Given the description of an element on the screen output the (x, y) to click on. 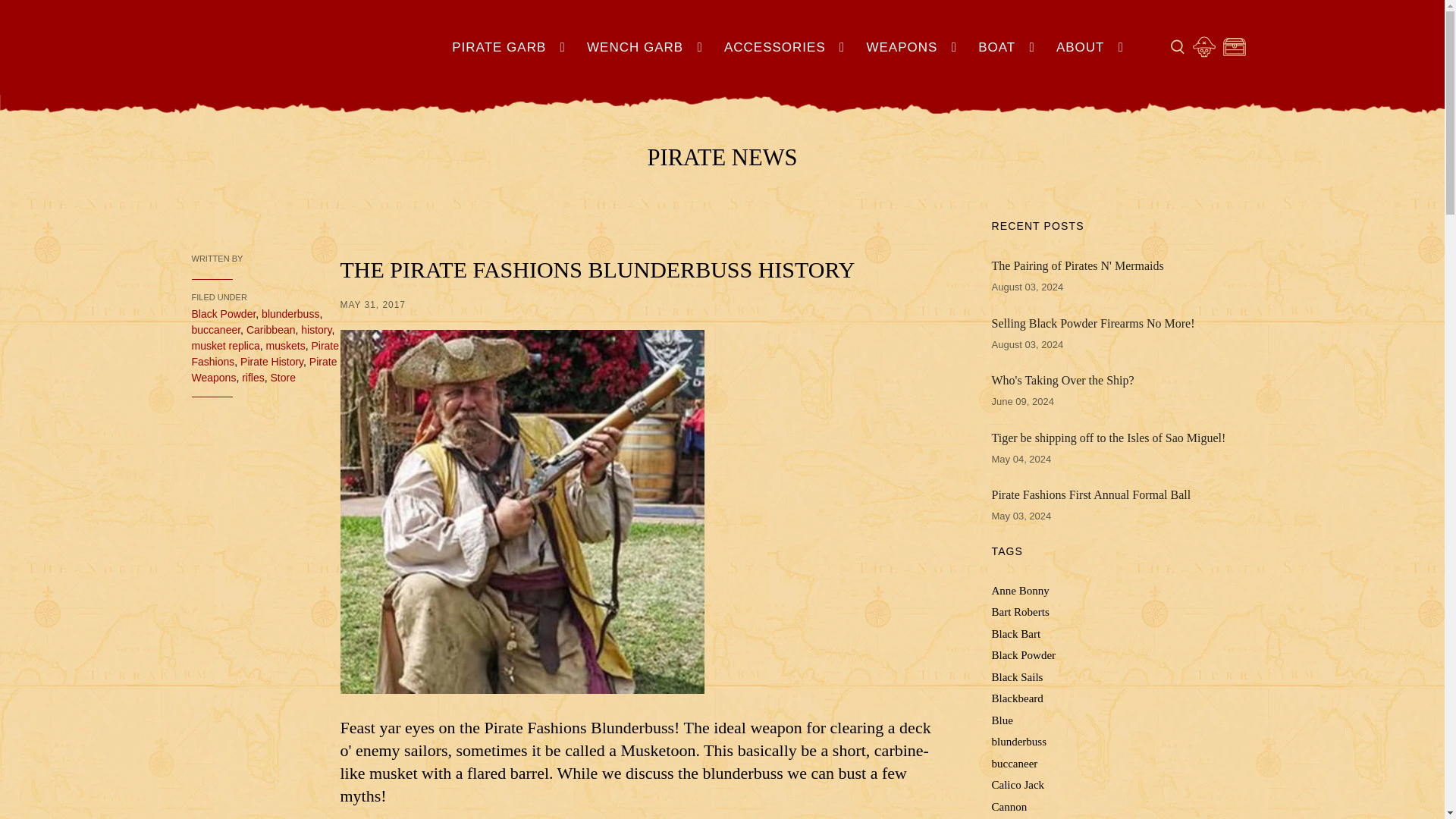
ACCESSORIES (787, 47)
Selling Black Powder Firearms No More! (1122, 323)
Tiger be shipping off to the Isles of Sao Miguel! (1122, 438)
Pirate Fashions First Annual Formal Ball (1122, 495)
WENCH GARB (647, 47)
Who's Taking Over the Ship? (1122, 380)
PIRATE GARB (511, 47)
Pirate Fashions (321, 51)
The Pairing of Pirates N' Mermaids (1122, 266)
